Given the description of an element on the screen output the (x, y) to click on. 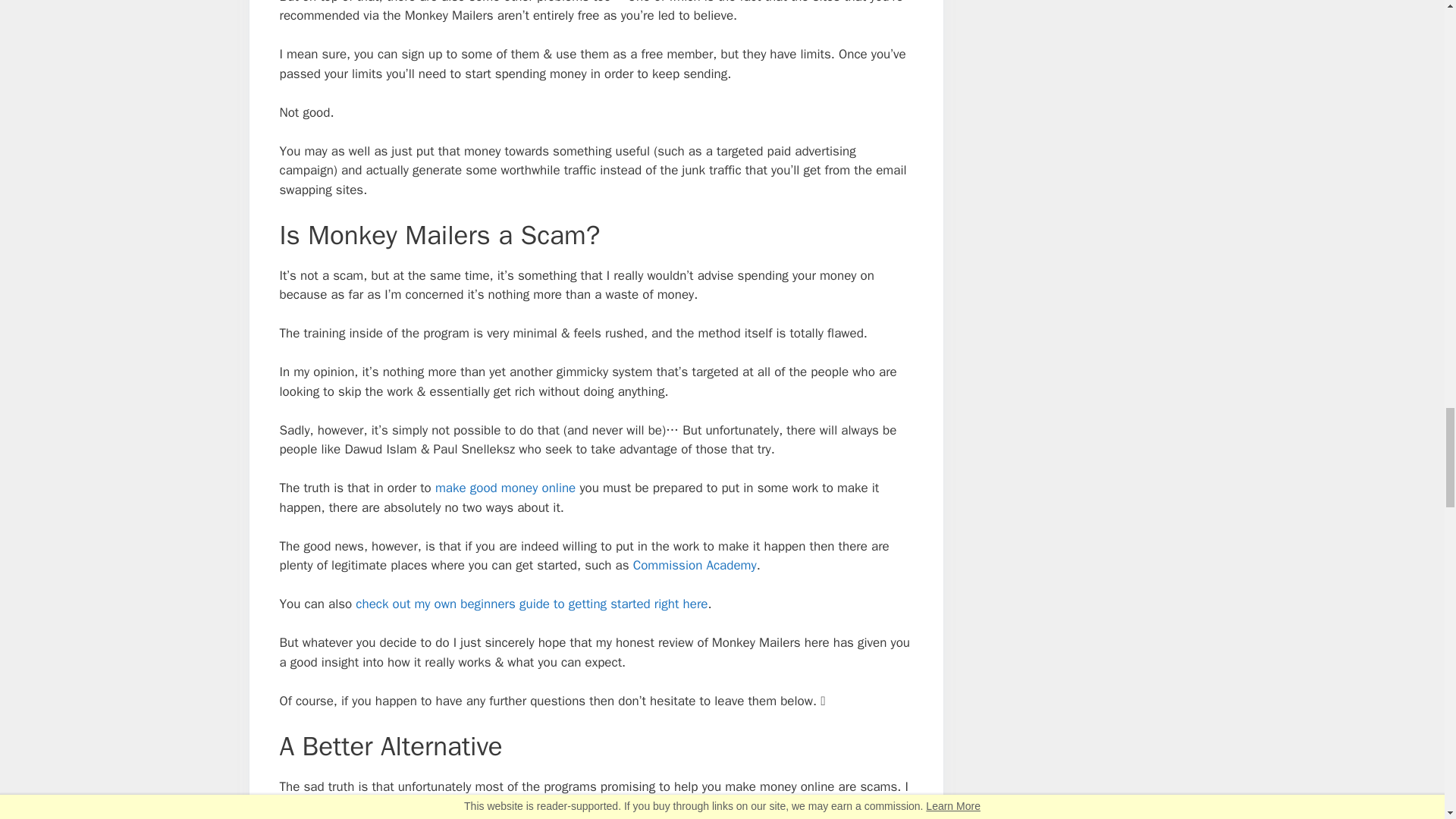
Commission Academy (695, 565)
make good money online (505, 487)
